Given the description of an element on the screen output the (x, y) to click on. 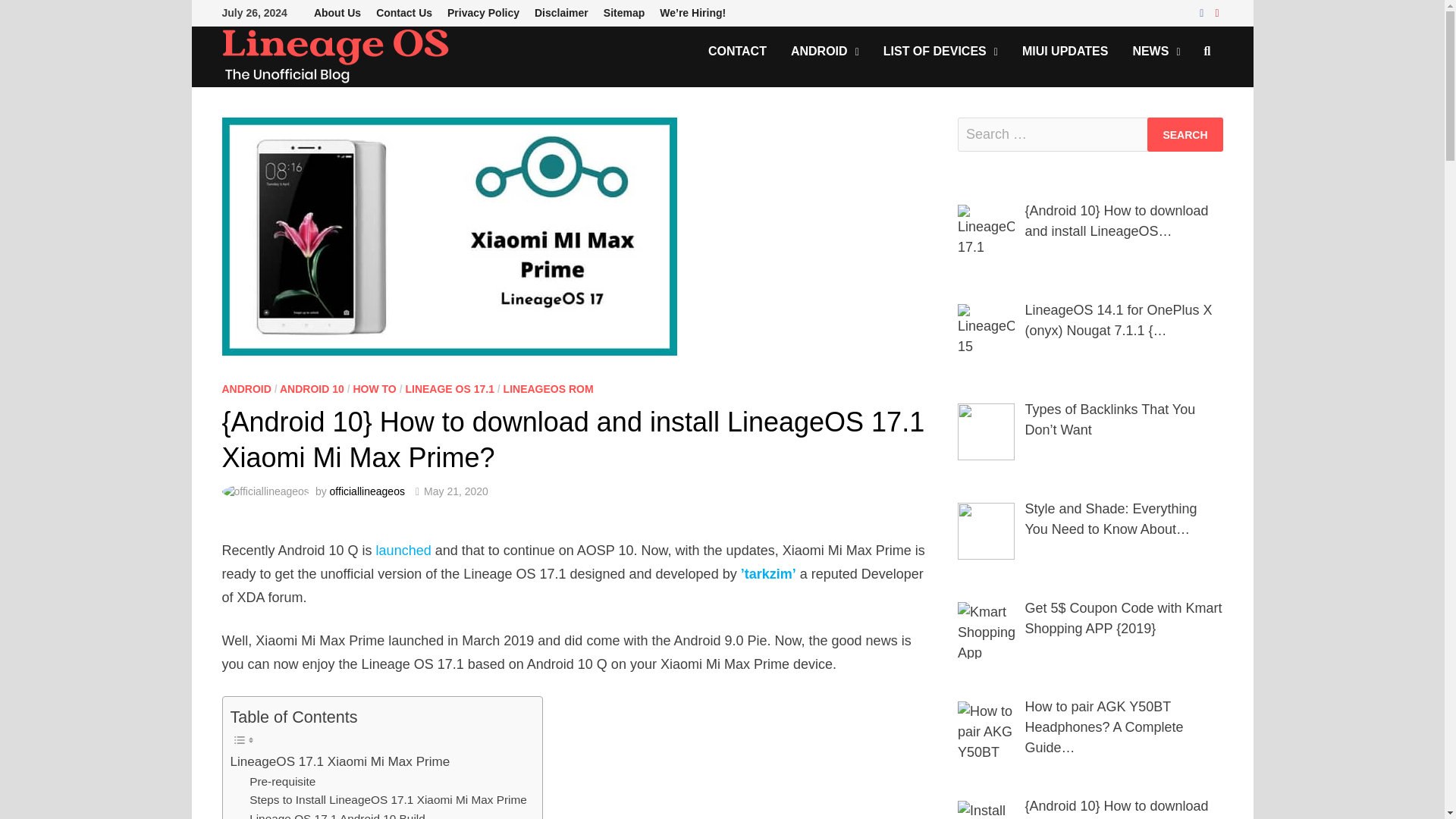
ANDROID (245, 388)
About Us (336, 13)
Search (1185, 134)
Lineage OS 17.1 Android 10 Build (336, 814)
Sitemap (623, 13)
CONTACT (736, 51)
LineageOS 17.1 Xiaomi Mi Max Prime (339, 761)
Privacy Policy (483, 13)
MIUI UPDATES (1064, 51)
NEWS (1155, 51)
Search (1185, 134)
Disclaimer (561, 13)
LINEAGEOS ROM (548, 388)
Pre-requisite (281, 782)
ANDROID (824, 51)
